Given the description of an element on the screen output the (x, y) to click on. 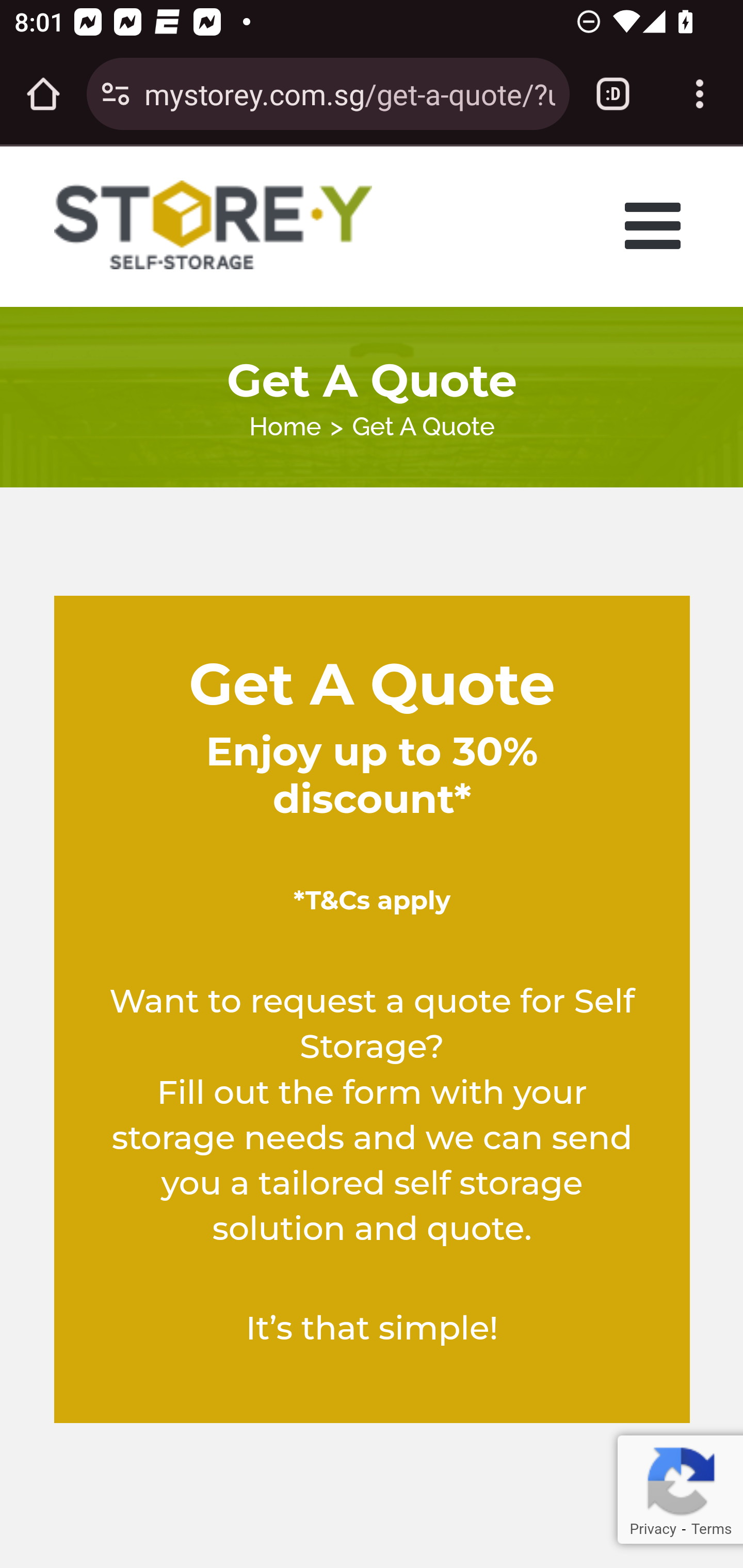
Open the home page (43, 93)
Connection is secure (115, 93)
Switch or close tabs (612, 93)
Customize and control Google Chrome (699, 93)
Store-Y Logo (213, 225)
Toggle mobile menu  (657, 225)
Home (285, 426)
Privacy (652, 1528)
Terms (711, 1528)
